Given the description of an element on the screen output the (x, y) to click on. 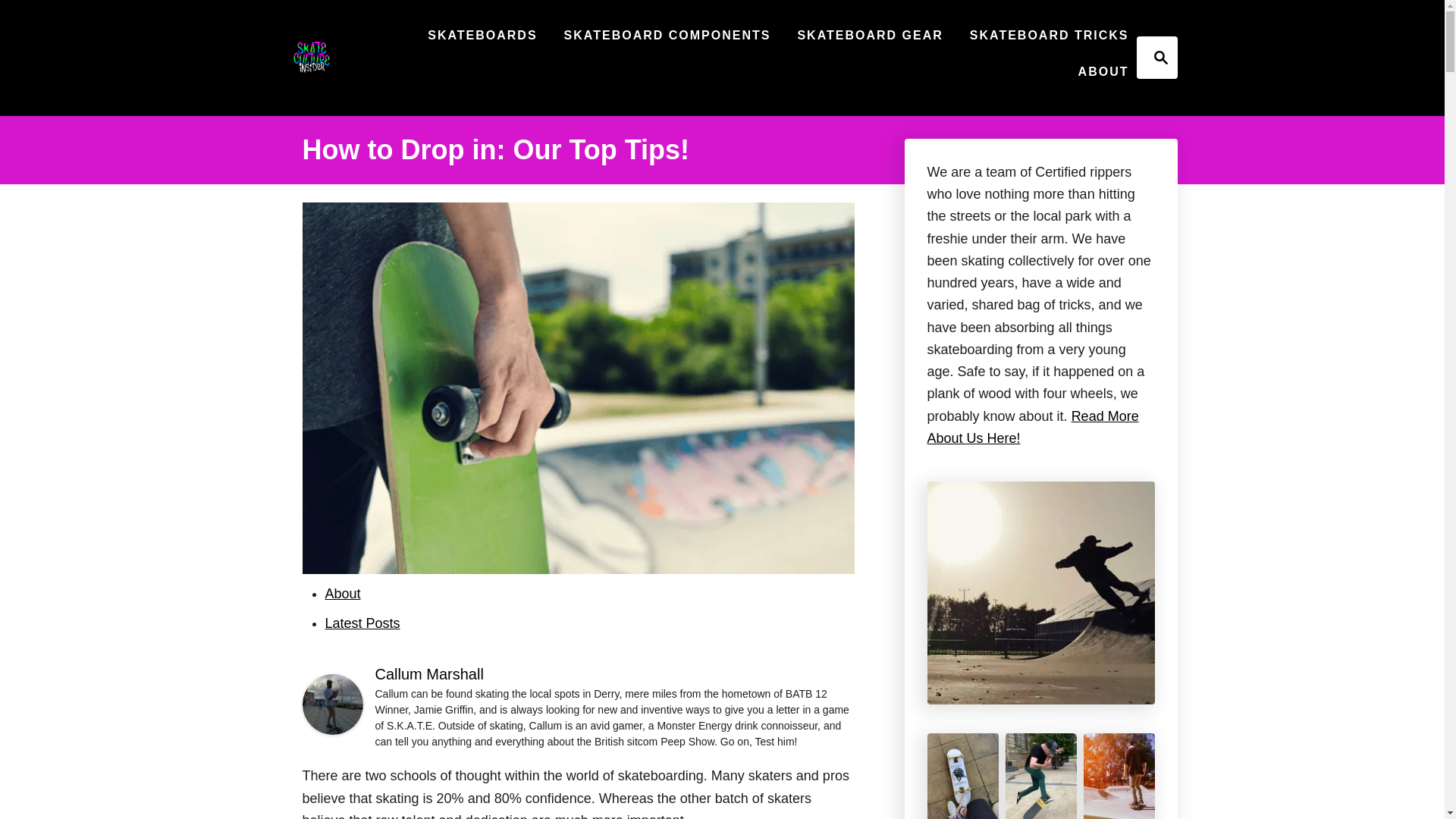
Latest Posts (361, 622)
SKATEBOARD COMPONENTS (1155, 57)
Read More About Us Here! (667, 35)
Skate Culture Insider (1032, 426)
ABOUT (310, 57)
SKATEBOARD GEAR (1103, 71)
SKATEBOARDS (869, 35)
Callum Marshall (482, 35)
Magnifying Glass (331, 729)
About (1160, 57)
Callum Marshall (341, 593)
SKATEBOARD TRICKS (428, 673)
